Given the description of an element on the screen output the (x, y) to click on. 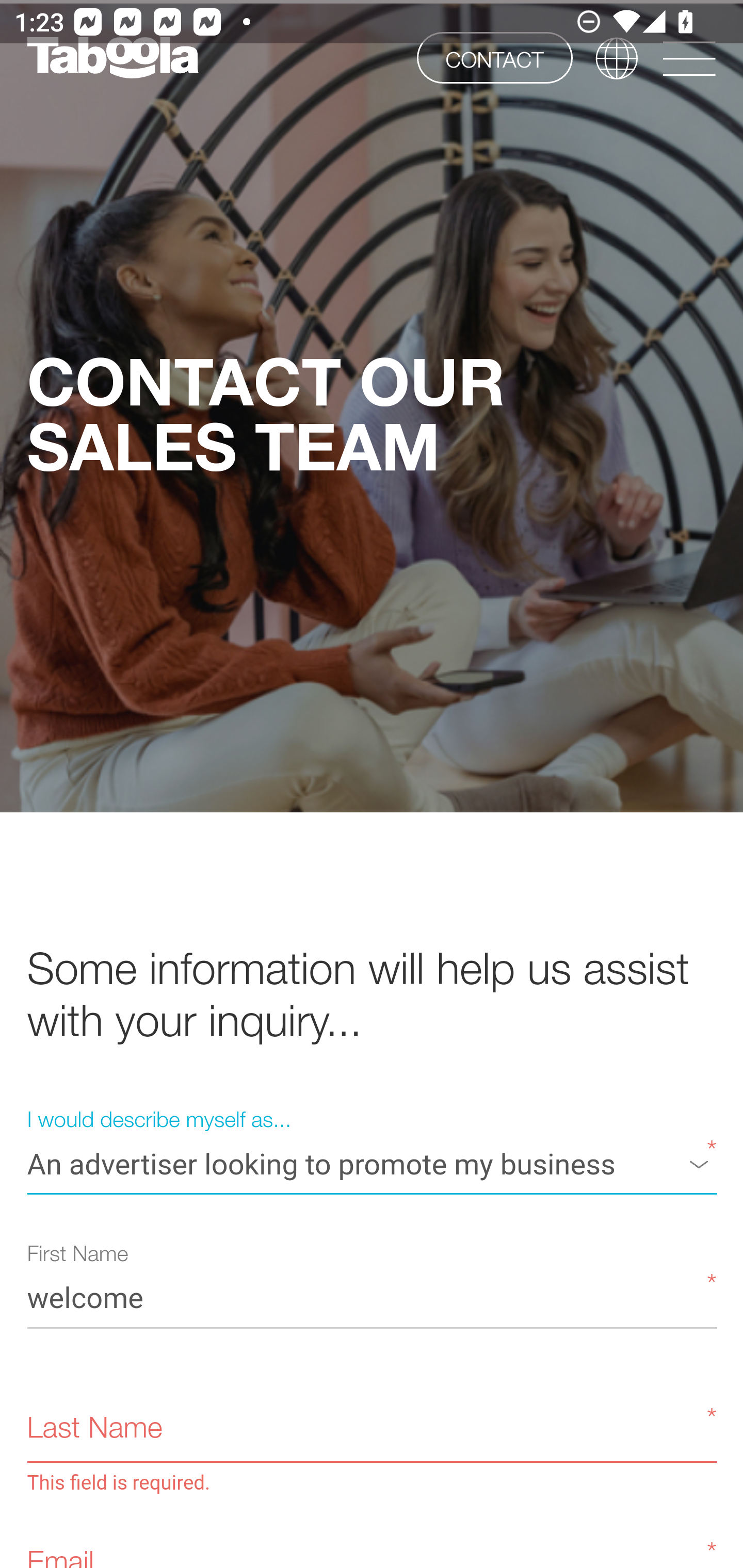
CONTACT (494, 56)
www.taboola (112, 57)
An advertiser looking to promote my business (371, 1163)
welcome (371, 1297)
